Given the description of an element on the screen output the (x, y) to click on. 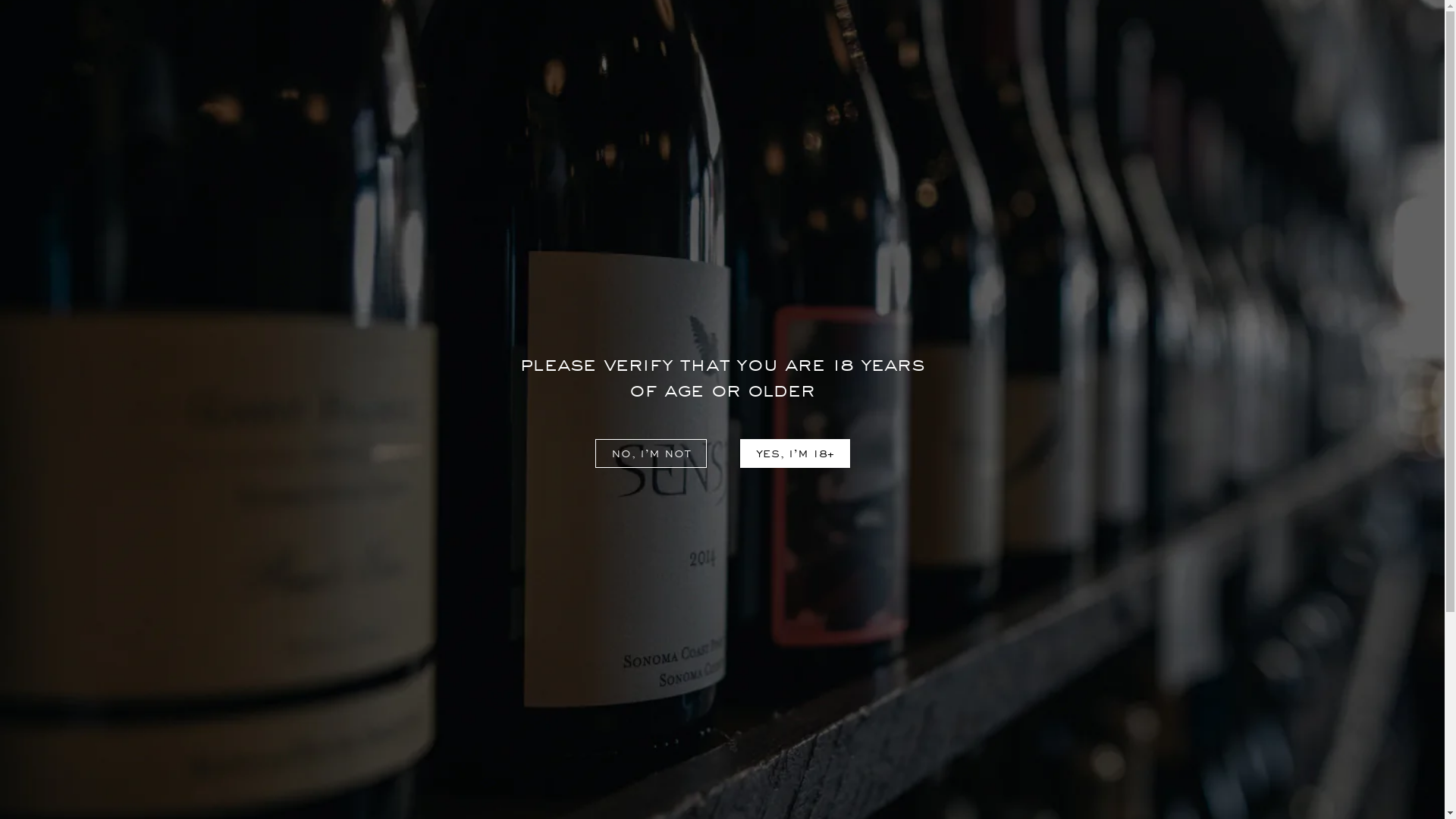
Wine Regions Element type: text (502, 731)
About us Element type: text (488, 684)
Facebook Element type: text (1021, 687)
Spirits Element type: text (840, 87)
About Element type: text (123, 48)
Search Element type: text (1303, 48)
Log in Element type: text (1269, 48)
News Element type: text (477, 708)
Sparkling & Champagne Element type: text (694, 87)
News Element type: text (47, 48)
Privacy Policy Element type: text (227, 684)
Packs Element type: text (922, 87)
Get Directions Element type: text (780, 747)
Wine Regions Element type: text (229, 48)
Refund Policy Element type: text (227, 708)
Continue shopping Element type: text (721, 398)
Books Element type: text (1001, 87)
Terms of Service Element type: text (235, 731)
Instagram Element type: text (1050, 687)
Cart
0 Element type: text (1381, 48)
White Element type: text (553, 87)
